Given the description of an element on the screen output the (x, y) to click on. 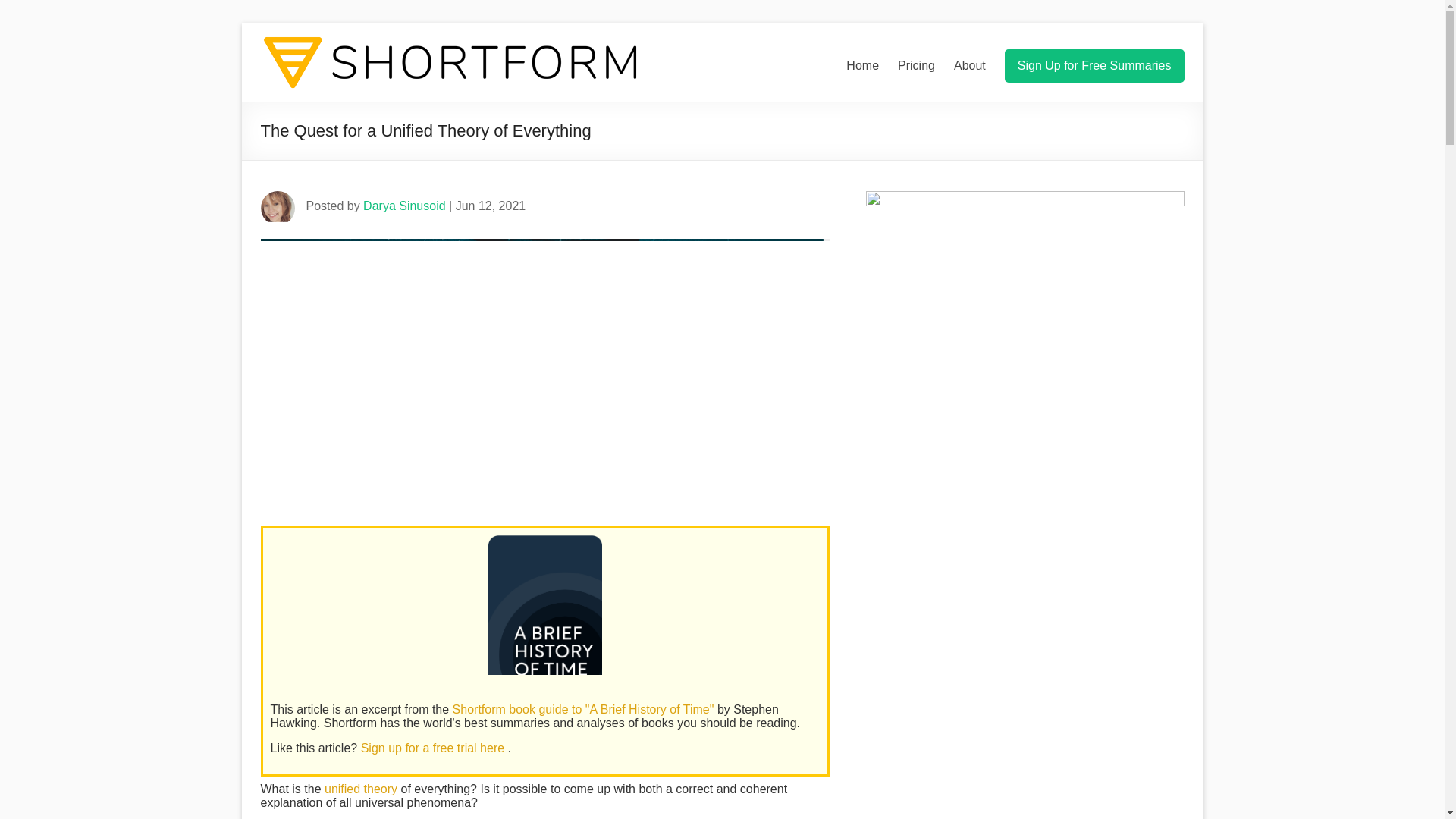
Shortform book guide to "A Brief History of Time" (584, 708)
Pricing (916, 65)
unified theory (360, 788)
Darya Sinusoid (403, 205)
Sign Up for Free Summaries (1094, 65)
About (969, 65)
Sign up for a free trial here (434, 748)
Home (862, 65)
